Given the description of an element on the screen output the (x, y) to click on. 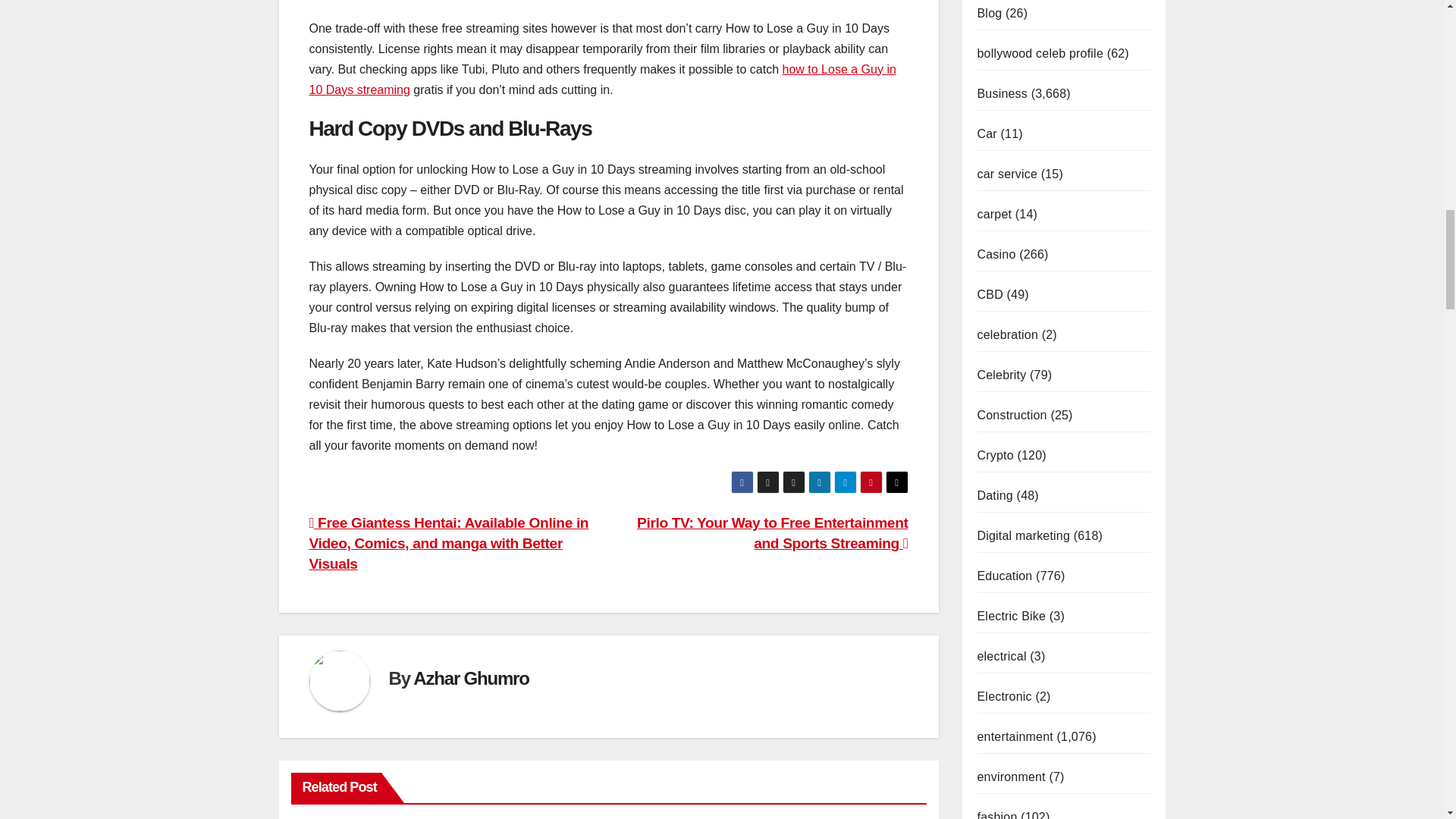
how to Lose a Guy in 10 Days streaming (602, 79)
Azhar Ghumro (470, 678)
